Given the description of an element on the screen output the (x, y) to click on. 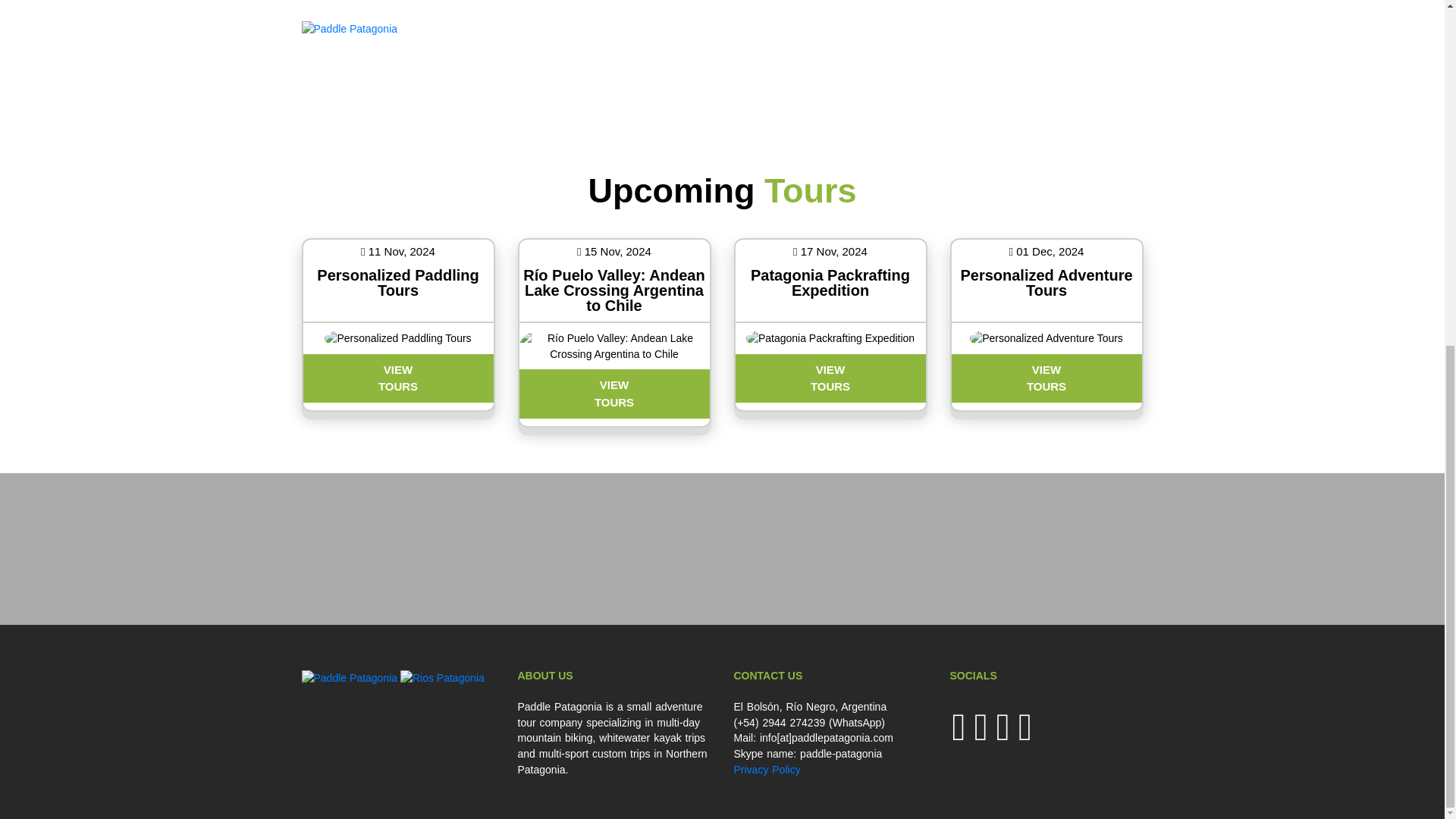
VIEW TOURS (1045, 377)
VIEW TOURS (830, 377)
Privacy Policy (766, 769)
VIEW TOURS (397, 377)
VIEW TOURS (613, 393)
